Given the description of an element on the screen output the (x, y) to click on. 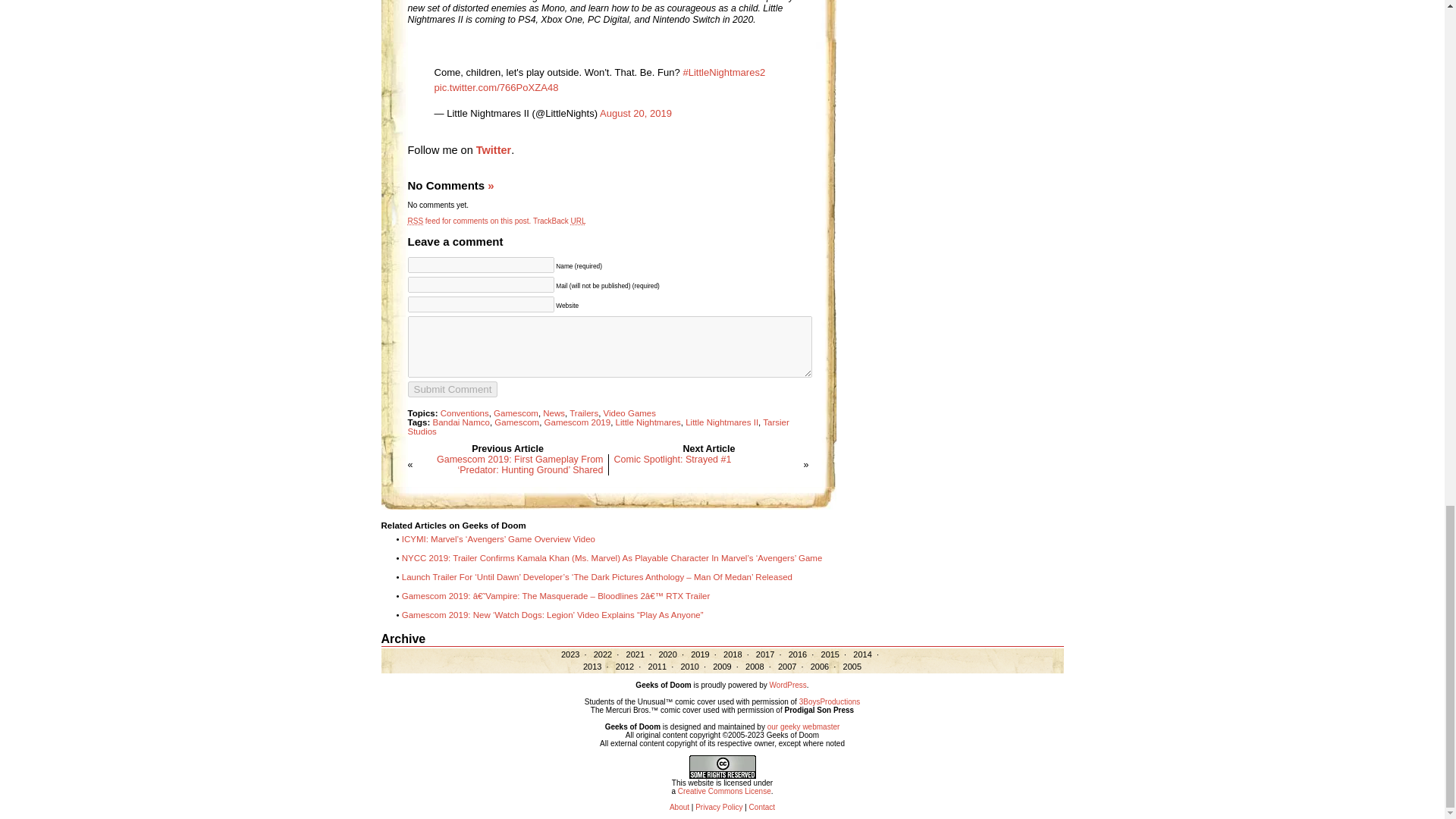
Twitter (493, 150)
Submit Comment (452, 389)
Little Nightmares (648, 421)
Trailers (583, 412)
TrackBack URL (559, 221)
Gamescom (516, 421)
Gamescom 2019 (577, 421)
Gamescom (515, 412)
Bandai Namco (460, 421)
Conventions (465, 412)
Tarsier Studios (598, 426)
Little Nightmares II (721, 421)
RSS feed for comments on this post. (469, 221)
News (553, 412)
Really Simple Syndication (415, 221)
